Given the description of an element on the screen output the (x, y) to click on. 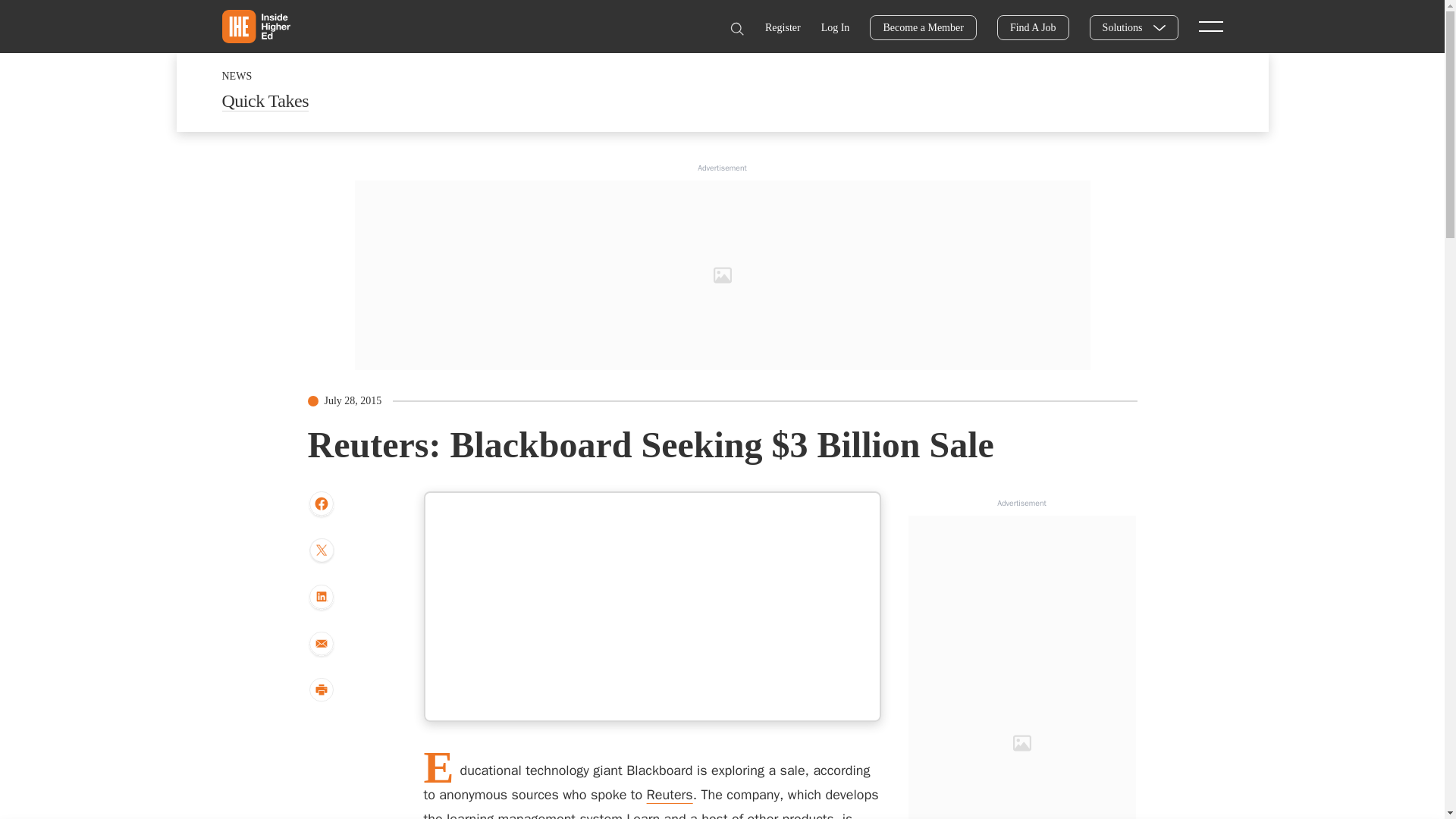
share to twitter (320, 551)
share to Linkedin (320, 597)
Home (255, 26)
Find A Job (1032, 27)
Search (736, 28)
Become a Member (922, 27)
share by email (320, 644)
share to facebook (320, 504)
